Given the description of an element on the screen output the (x, y) to click on. 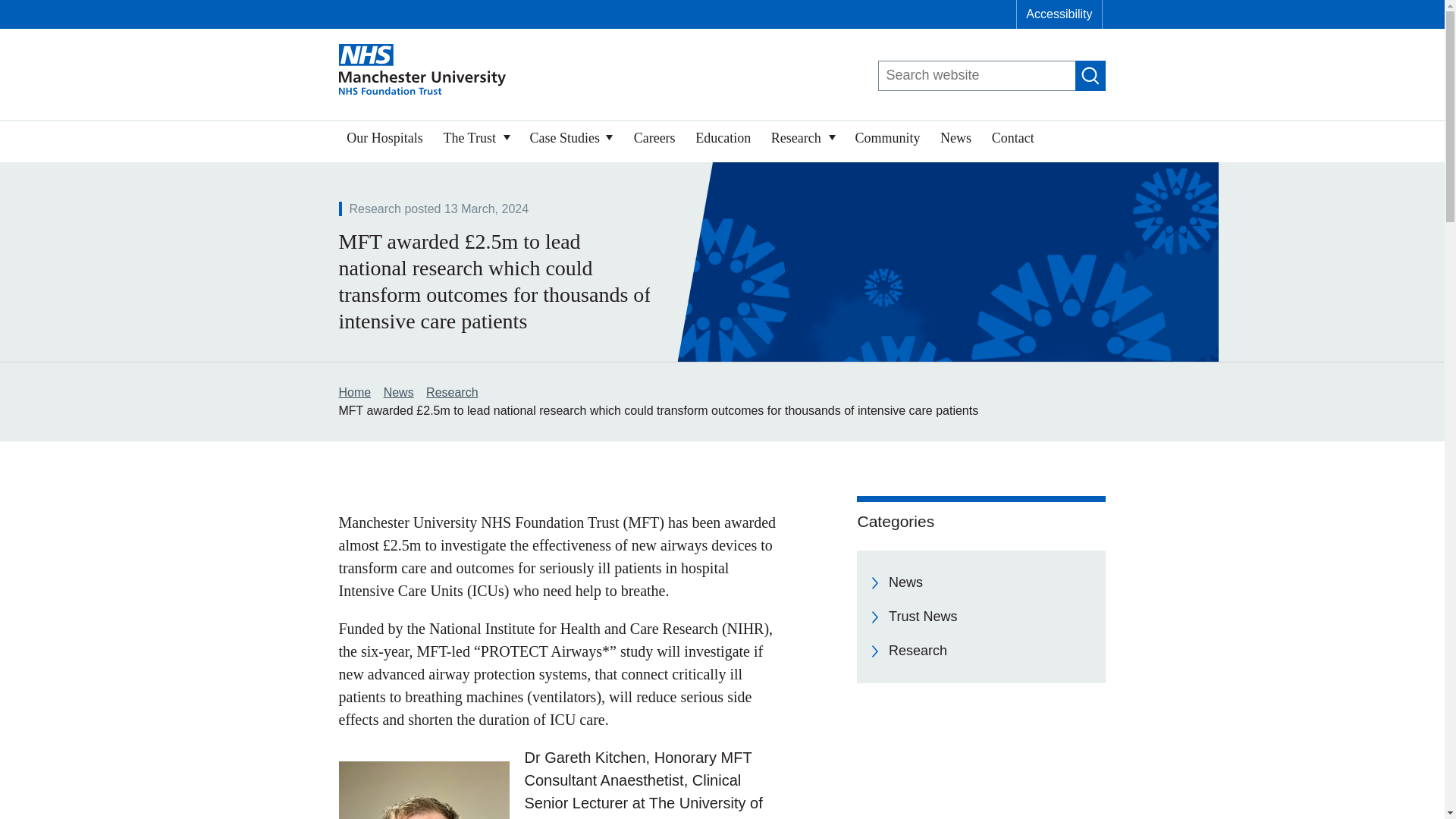
Go to Research. (451, 391)
Go to homepage (421, 70)
The Trust (476, 141)
Search (1090, 75)
Accessibility (1058, 14)
Manchester University NHS Foundation Trust (421, 70)
Go to News. (398, 391)
Go to home (354, 391)
Case Studies (571, 141)
Our Hospitals (383, 141)
